Given the description of an element on the screen output the (x, y) to click on. 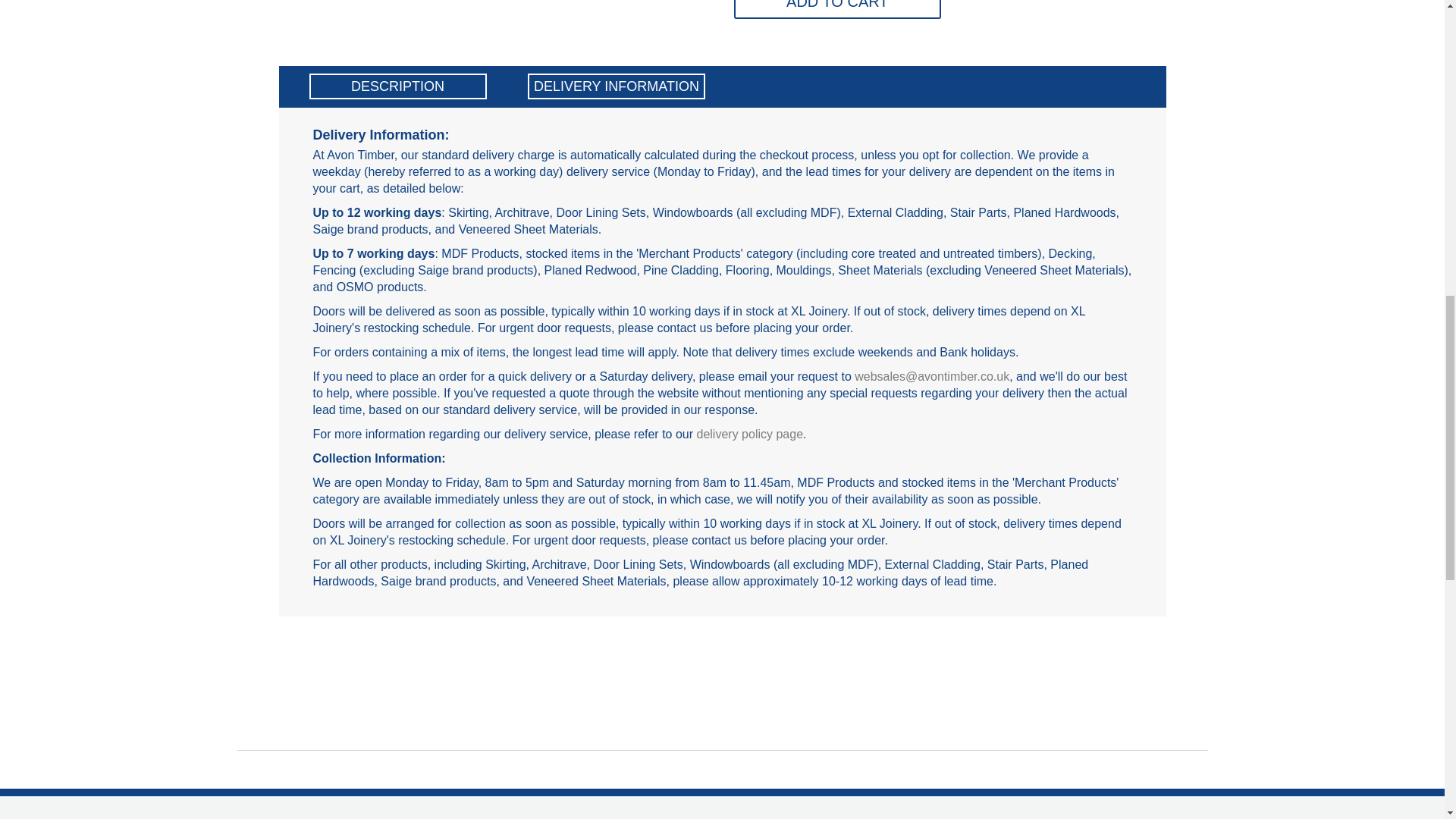
Email address (931, 376)
Delivery Policy (749, 433)
Add to Cart (837, 9)
